Given the description of an element on the screen output the (x, y) to click on. 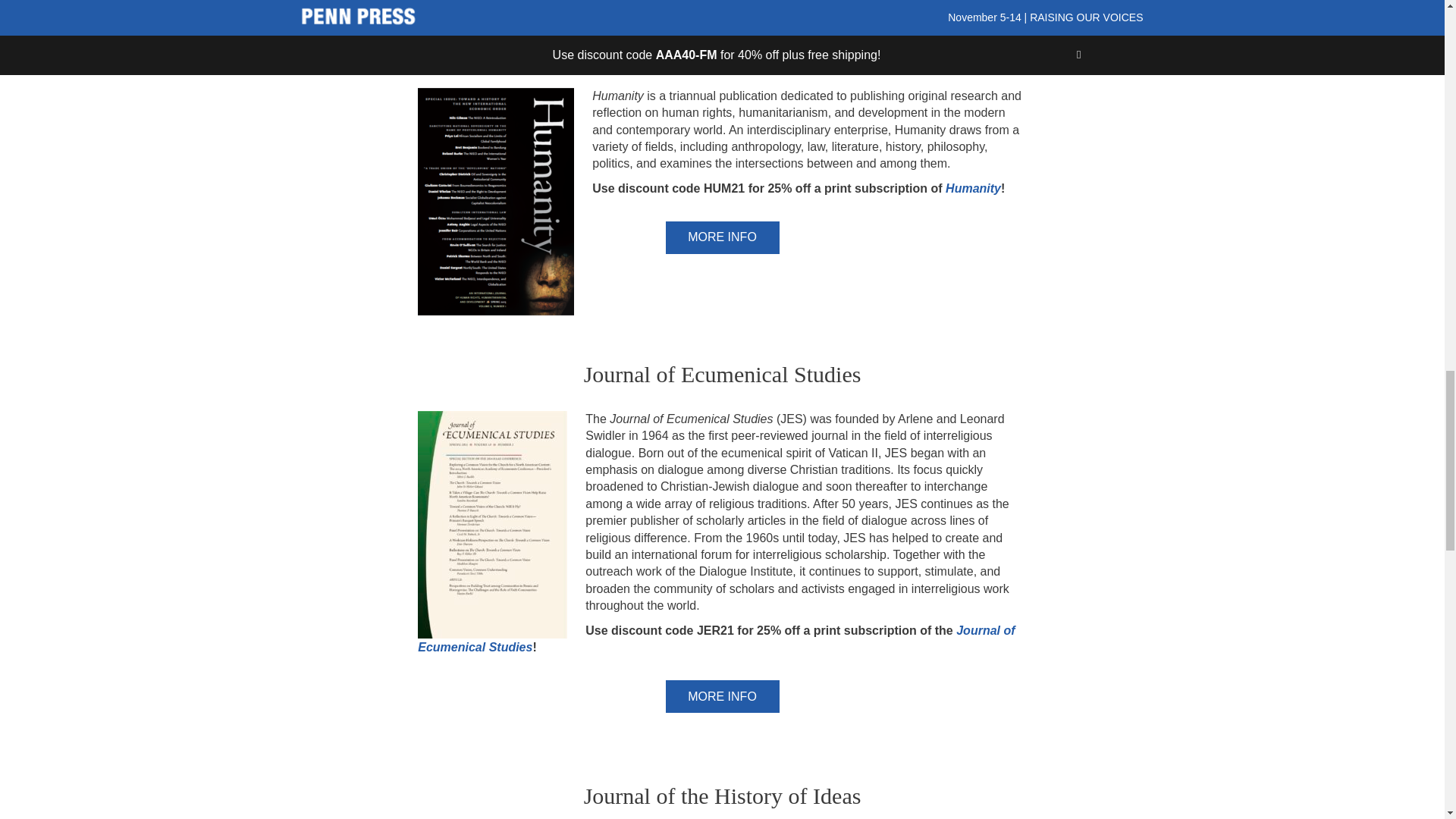
Humanity (972, 187)
MORE INFO (721, 237)
MORE INFO (721, 695)
Journal of Ecumenical Studies (715, 638)
